Given the description of an element on the screen output the (x, y) to click on. 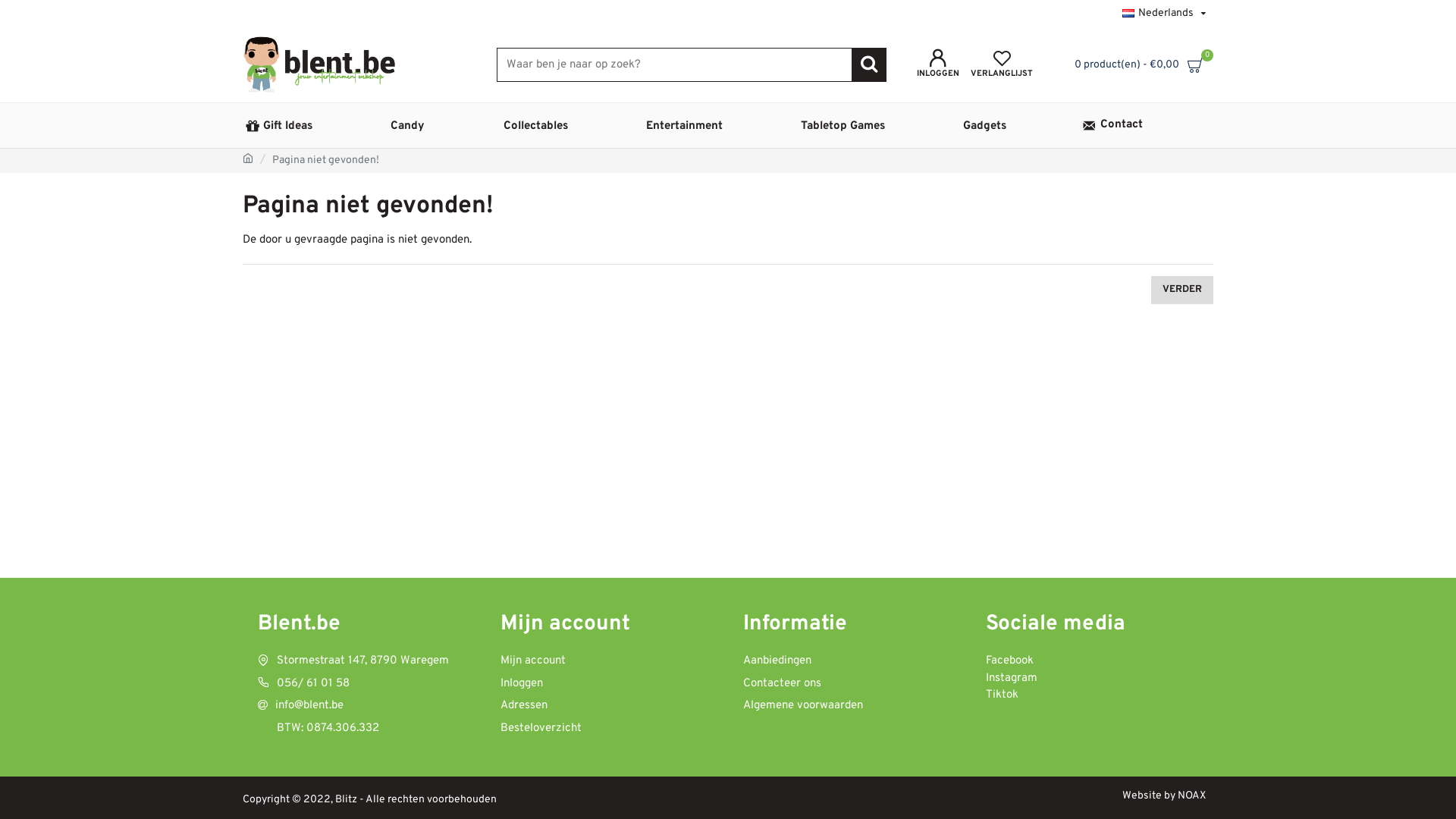
VERLANGLIJST Element type: text (1001, 64)
NOAX Element type: text (1191, 795)
Facebook Element type: text (1009, 661)
Pagina niet gevonden! Element type: text (325, 160)
Stormestraat 147, 8790 Waregem Element type: text (352, 663)
Nederlands Element type: text (1159, 13)
VERDER Element type: text (1182, 290)
Collectables Element type: text (570, 124)
Gadgets Element type: text (1019, 124)
Instagram Element type: text (1011, 678)
Inloggen Element type: text (521, 685)
056/ 61 01 58 Element type: text (303, 685)
Tiktok Element type: text (1001, 695)
info@blent.be Element type: text (300, 708)
Candy Element type: text (442, 124)
Aanbiedingen Element type: text (777, 663)
Nederlands Element type: hover (1128, 13)
Besteloverzicht Element type: text (540, 731)
Algemene voorwaarden Element type: text (802, 708)
INLOGGEN Element type: text (938, 64)
Adressen Element type: text (523, 708)
Entertainment Element type: text (719, 124)
BTW: 0874.306.332 Element type: text (318, 731)
Contacteer ons Element type: text (782, 685)
Gift Ideas Element type: text (314, 124)
Contact Element type: text (1147, 124)
Blent Element type: hover (318, 64)
Mijn account Element type: text (532, 663)
Tabletop Games Element type: text (878, 124)
